Given the description of an element on the screen output the (x, y) to click on. 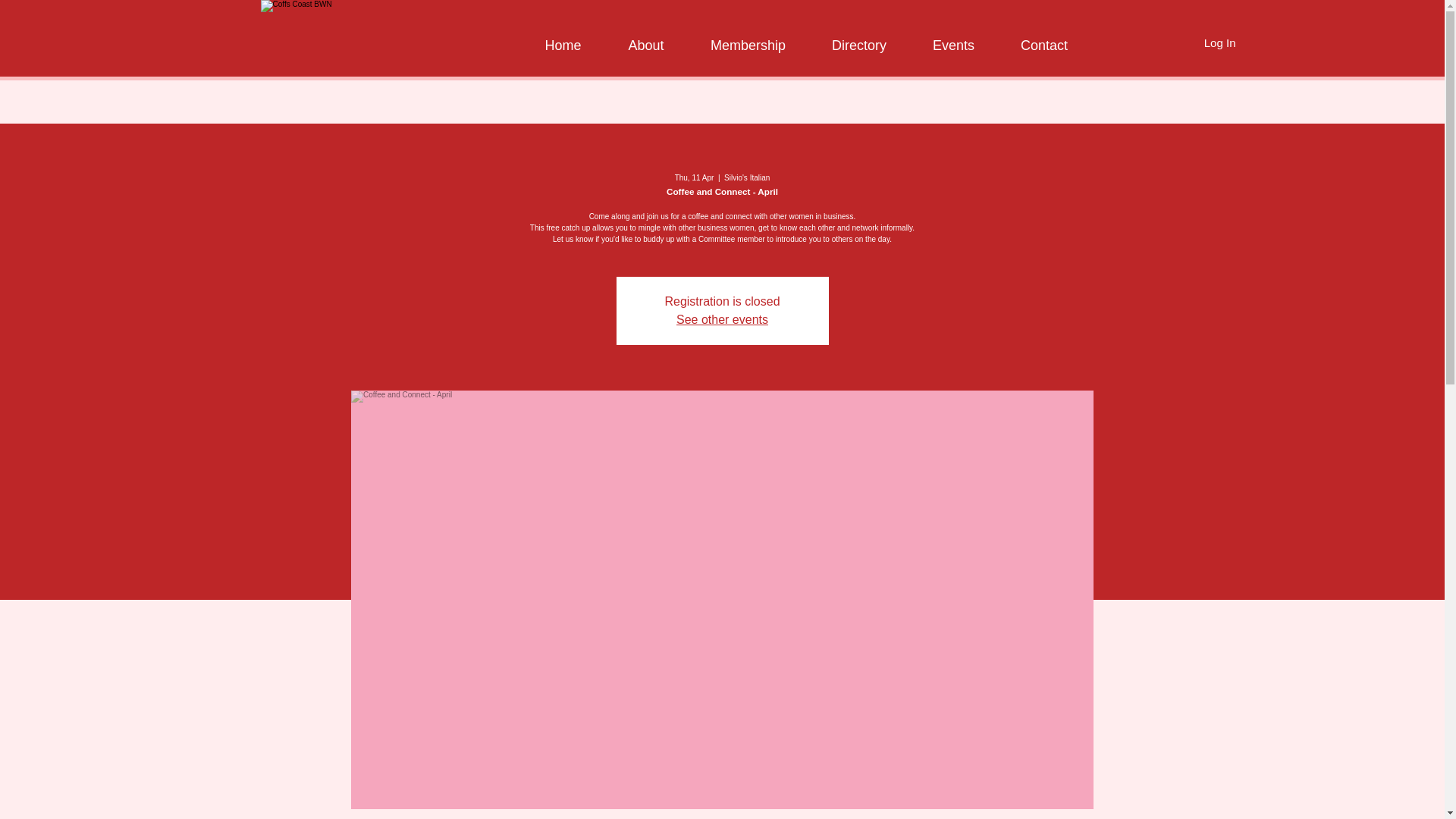
Directory (858, 38)
Contact (1041, 38)
Home (561, 38)
Log In (1219, 42)
Events (950, 38)
See other events (722, 318)
